Given the description of an element on the screen output the (x, y) to click on. 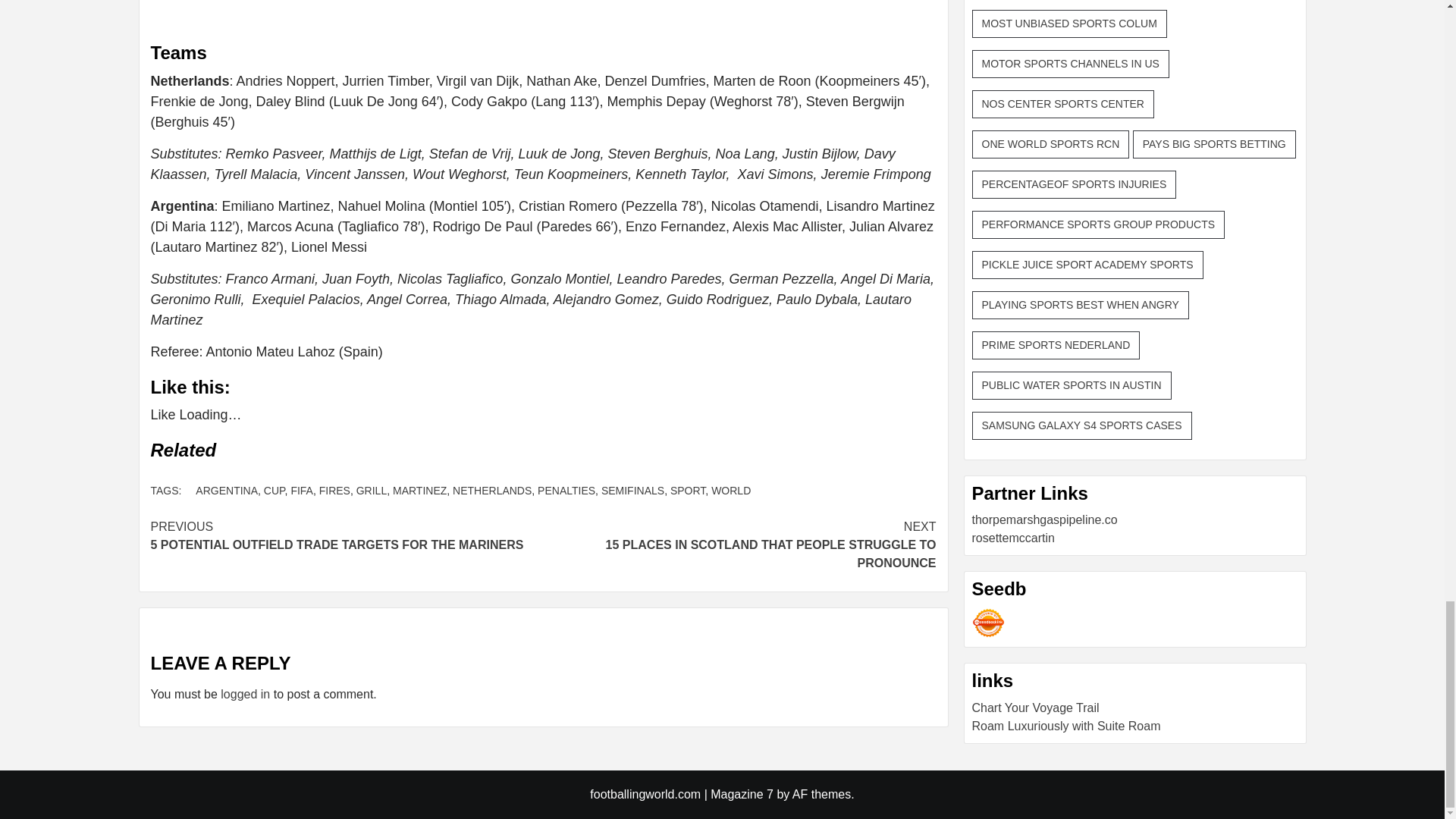
Seedbacklink (988, 622)
GRILL (371, 490)
SPORT (686, 490)
CUP (274, 490)
TAGS: (172, 490)
FIRES (334, 490)
NETHERLANDS (491, 490)
Related (346, 535)
WORLD (542, 450)
FIFA (731, 490)
SEMIFINALS (301, 490)
PENALTIES (632, 490)
MARTINEZ (566, 490)
ARGENTINA (419, 490)
